Given the description of an element on the screen output the (x, y) to click on. 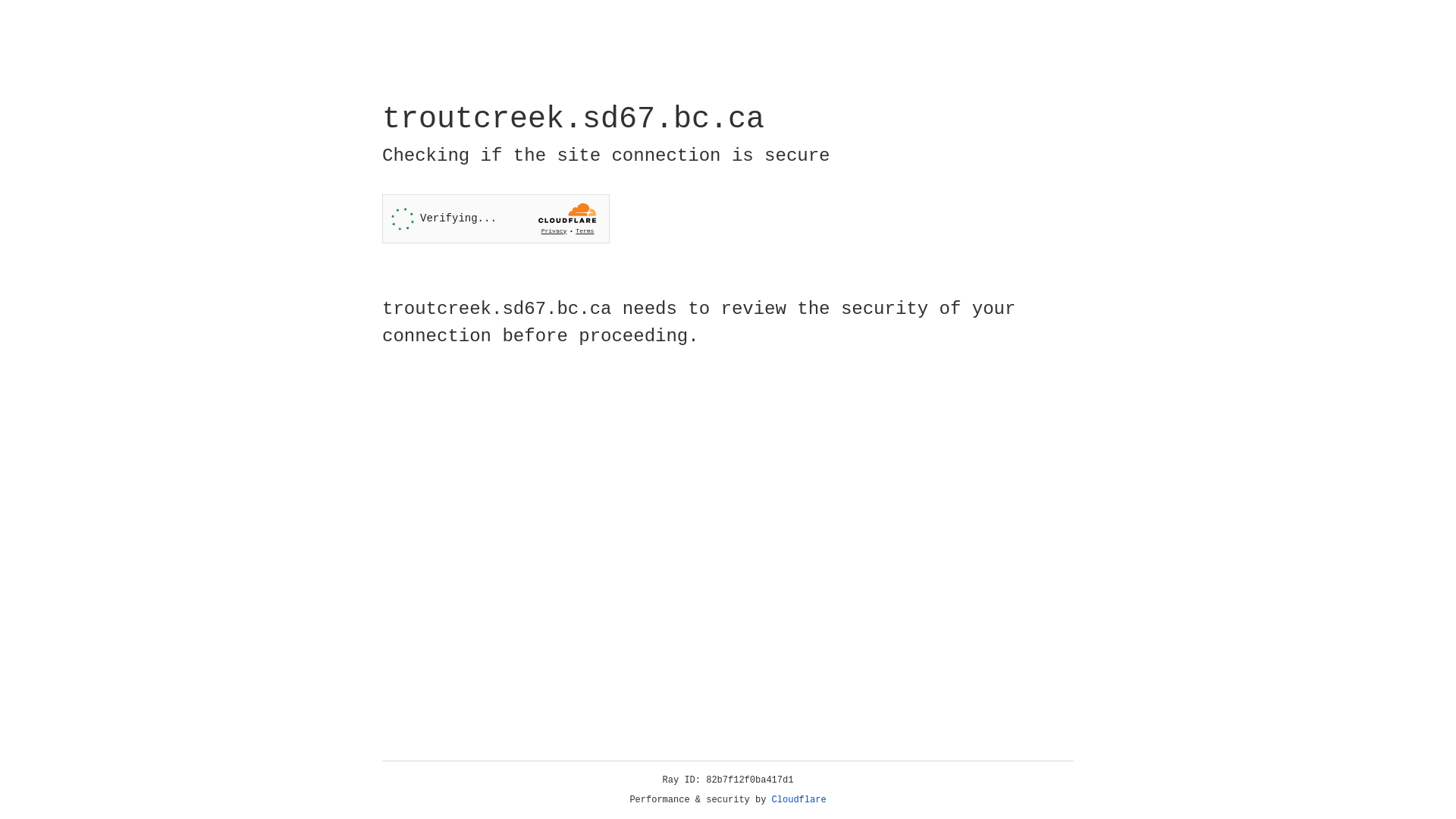
Cloudflare Element type: text (798, 799)
Widget containing a Cloudflare security challenge Element type: hover (495, 218)
